Given the description of an element on the screen output the (x, y) to click on. 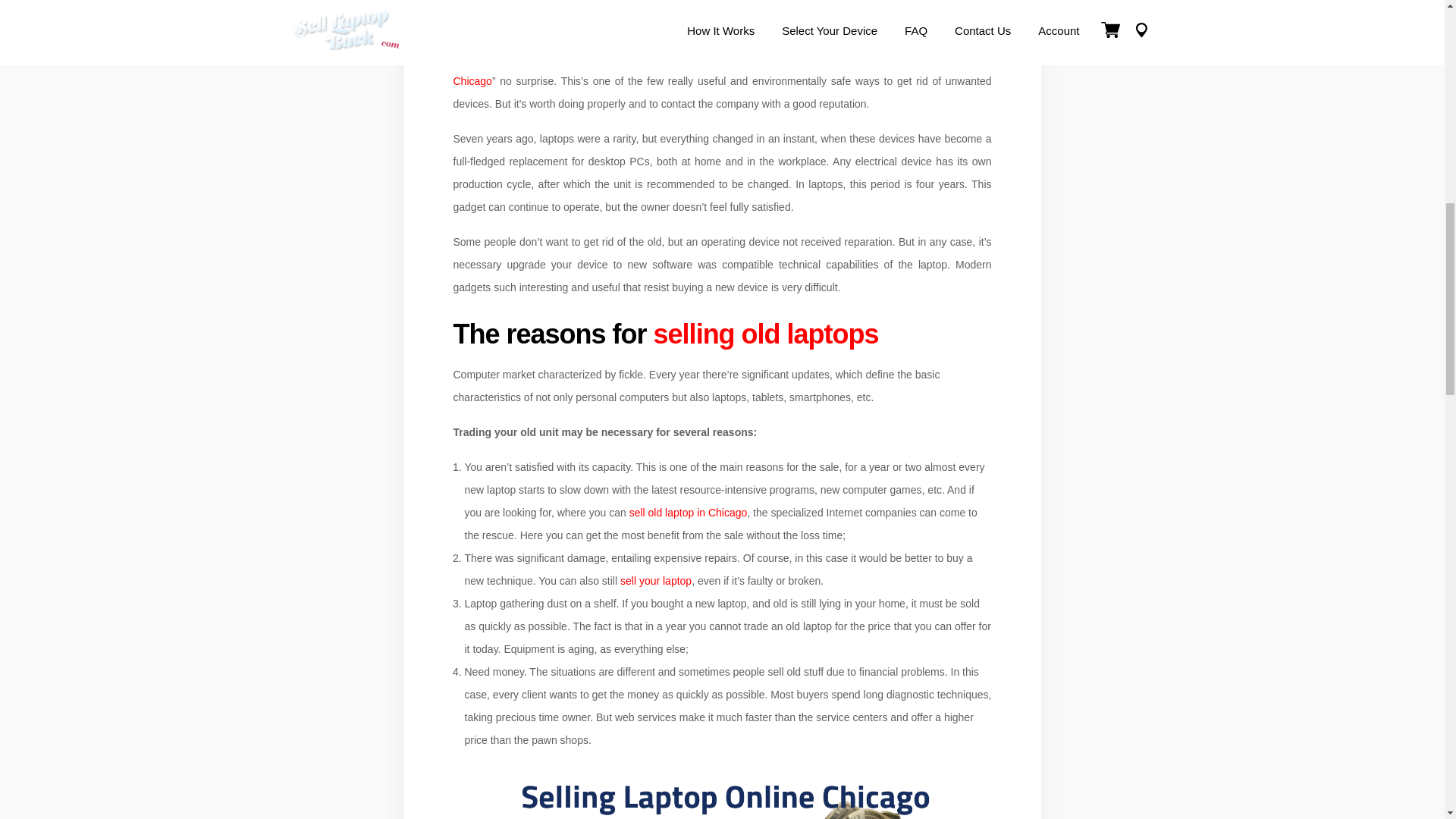
sell old laptop in Chicago (688, 512)
selling old laptops (766, 333)
Sell Laptop Chicago (721, 69)
sell your laptop (655, 580)
